Given the description of an element on the screen output the (x, y) to click on. 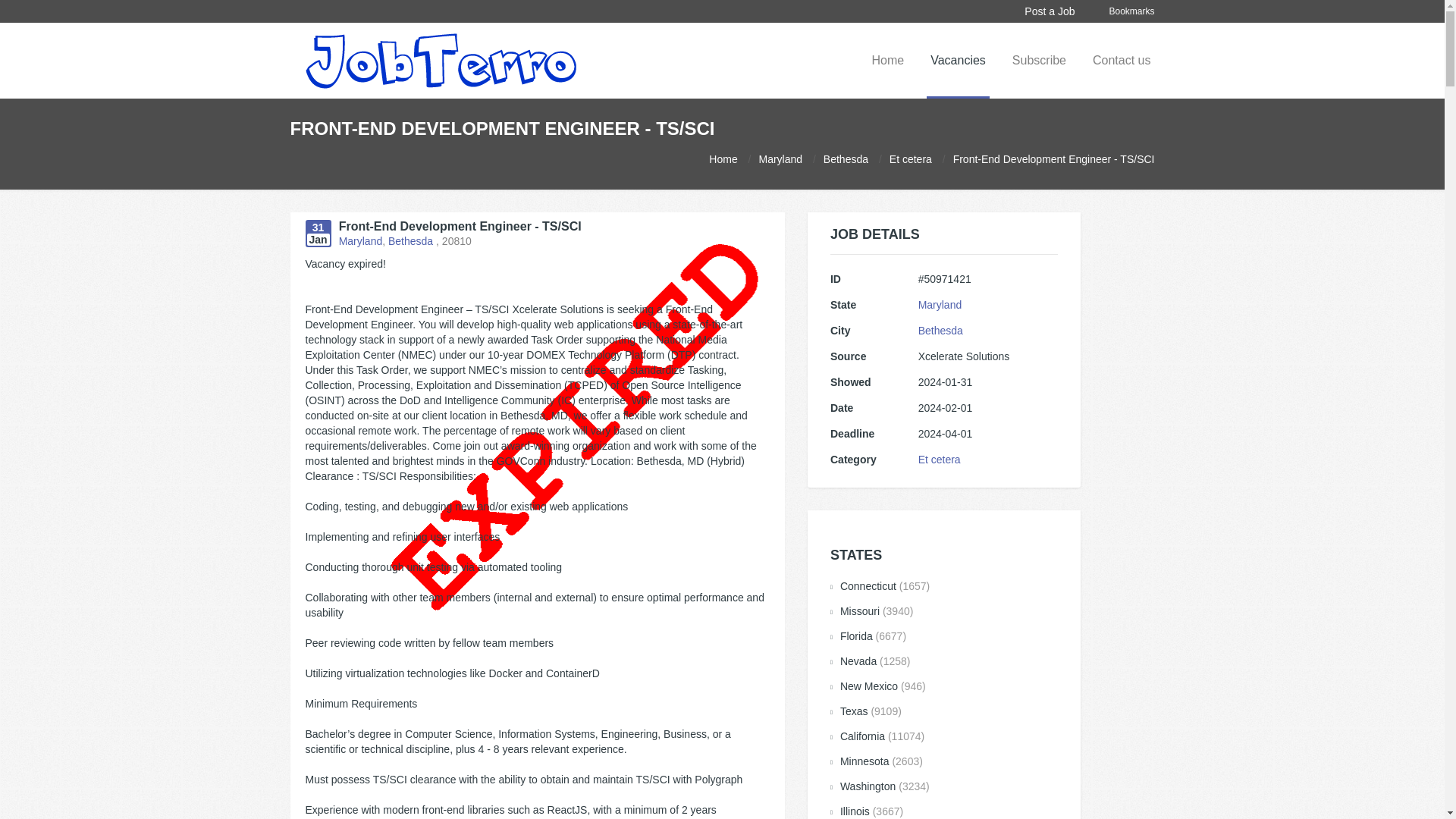
Bookmarks (1131, 11)
Home (722, 159)
Maryland jobs (780, 159)
Maryland (940, 304)
Et cetera (910, 159)
Job Terro - jobTerro.com (439, 60)
Maryland (360, 241)
Maryland (780, 159)
Post a Job (1049, 11)
bethesda (845, 159)
